Given the description of an element on the screen output the (x, y) to click on. 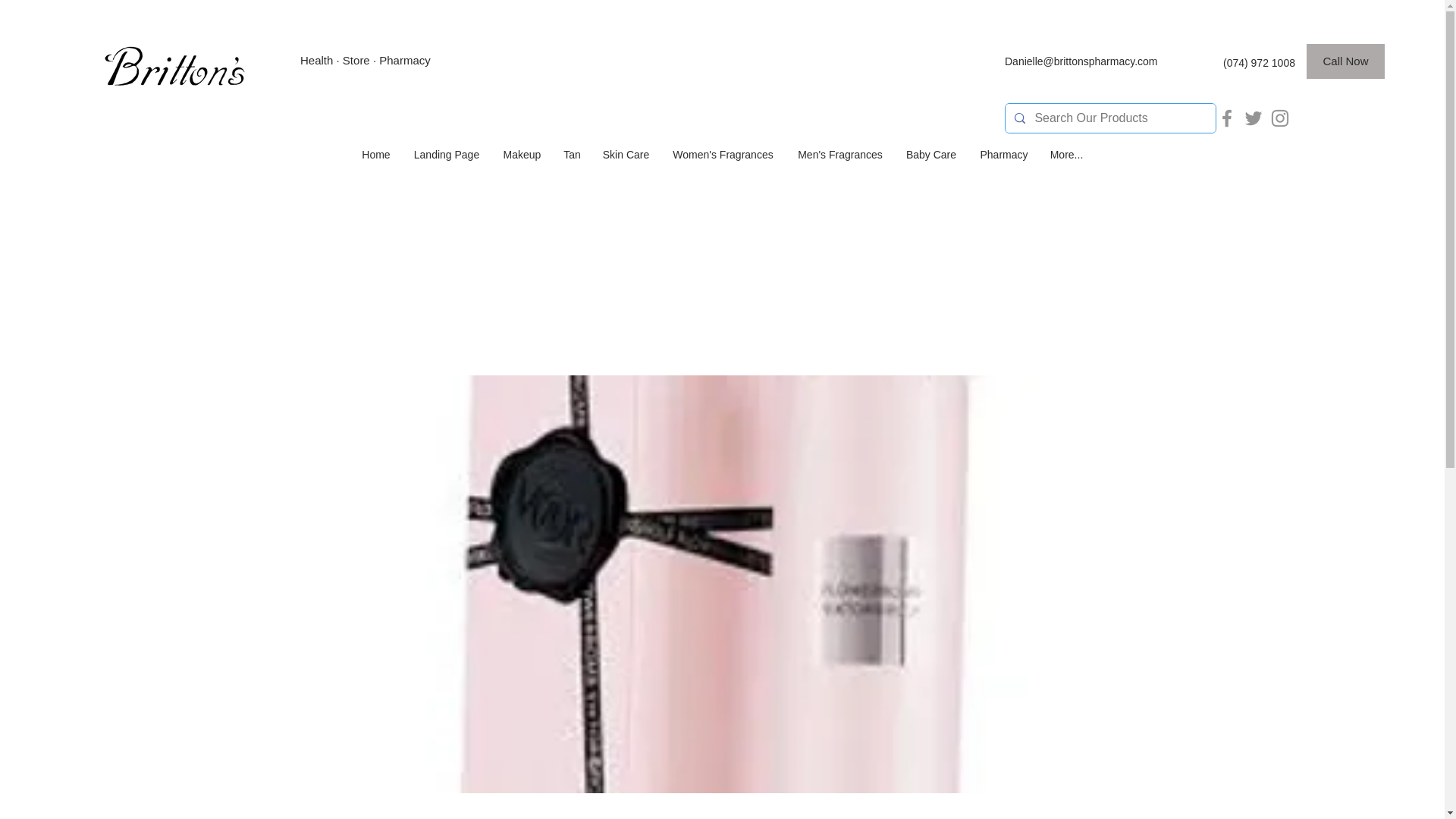
Skin Care (625, 154)
Call Now (1345, 61)
Landing Page (446, 154)
Home (375, 154)
Tan (571, 154)
